Given the description of an element on the screen output the (x, y) to click on. 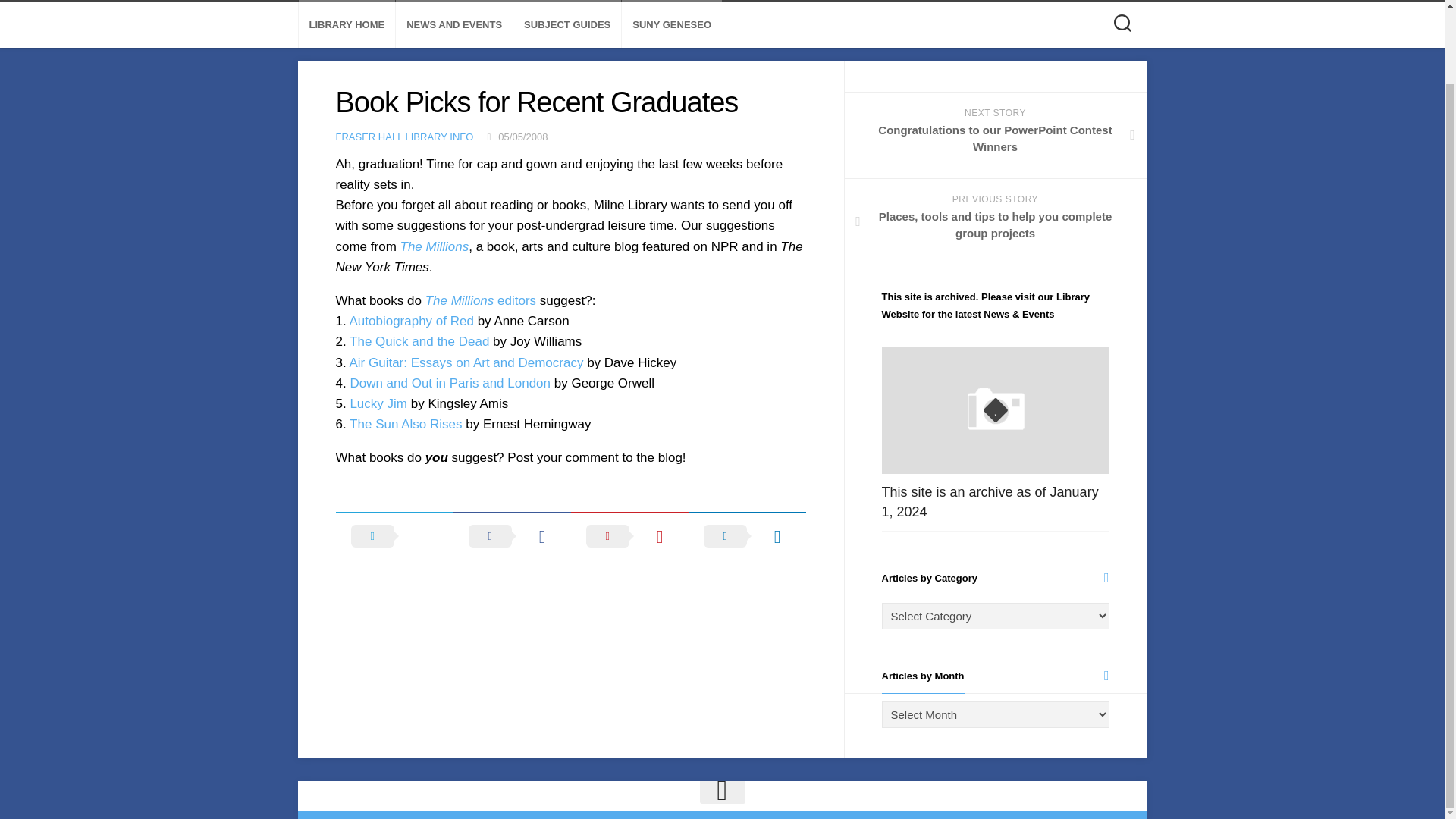
Share on LinkedIn (747, 535)
Share on Facebook (511, 535)
Share on X (393, 535)
FRASER HALL LIBRARY INFO (403, 136)
Air Guitar: Essays on Art and Democracy (466, 362)
The Sun Also Rises (405, 423)
The Millions editors (480, 300)
Lucky Jim (378, 403)
Down and Out in Paris and London (449, 382)
